Given the description of an element on the screen output the (x, y) to click on. 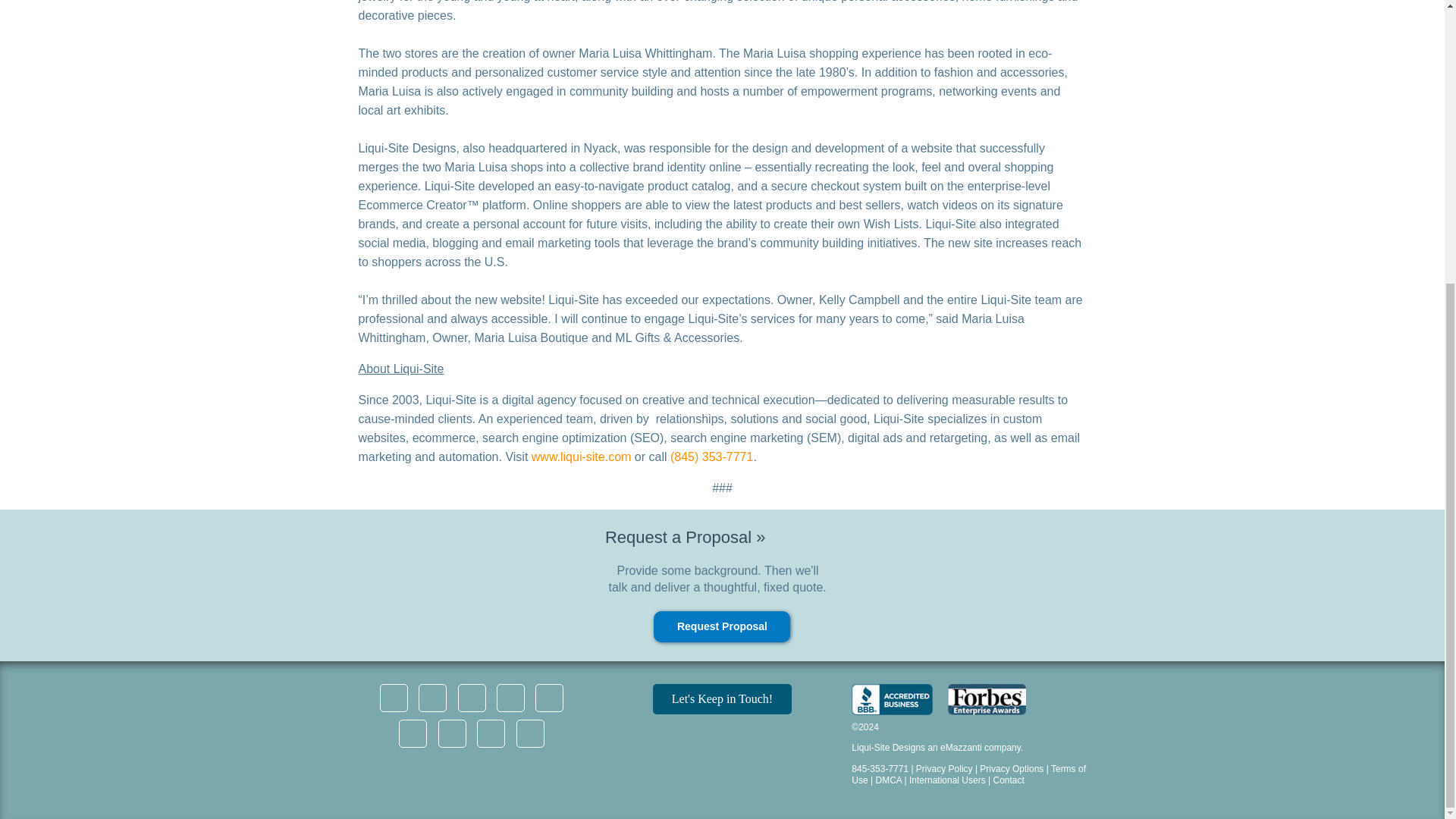
Forbes Enterprise Awards (986, 698)
www.liqui-site.com (581, 456)
BBB Accredited Business (892, 698)
Request Proposal (721, 626)
